Given the description of an element on the screen output the (x, y) to click on. 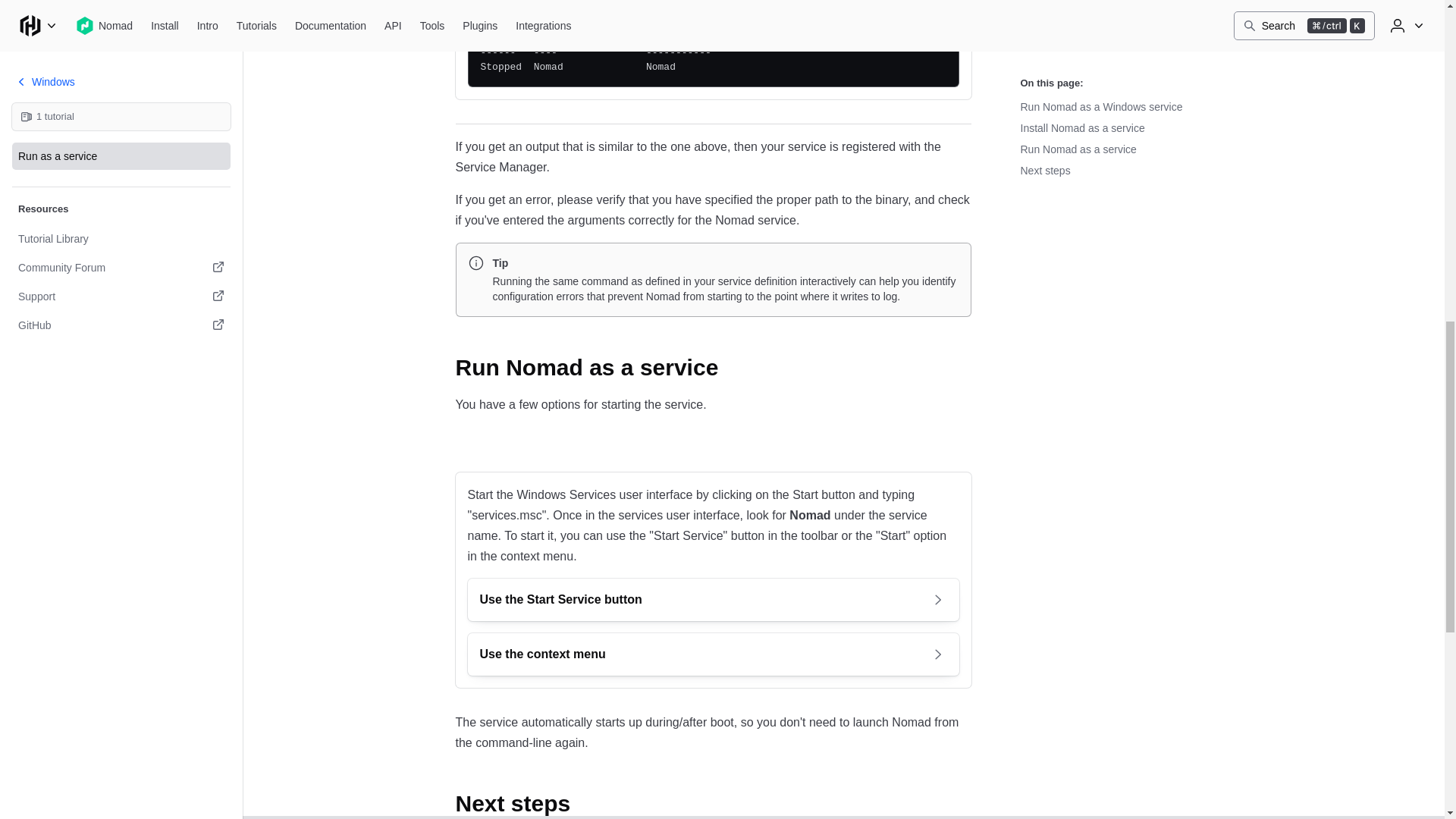
Next steps (524, 803)
Run Nomad as a service (598, 367)
